Given the description of an element on the screen output the (x, y) to click on. 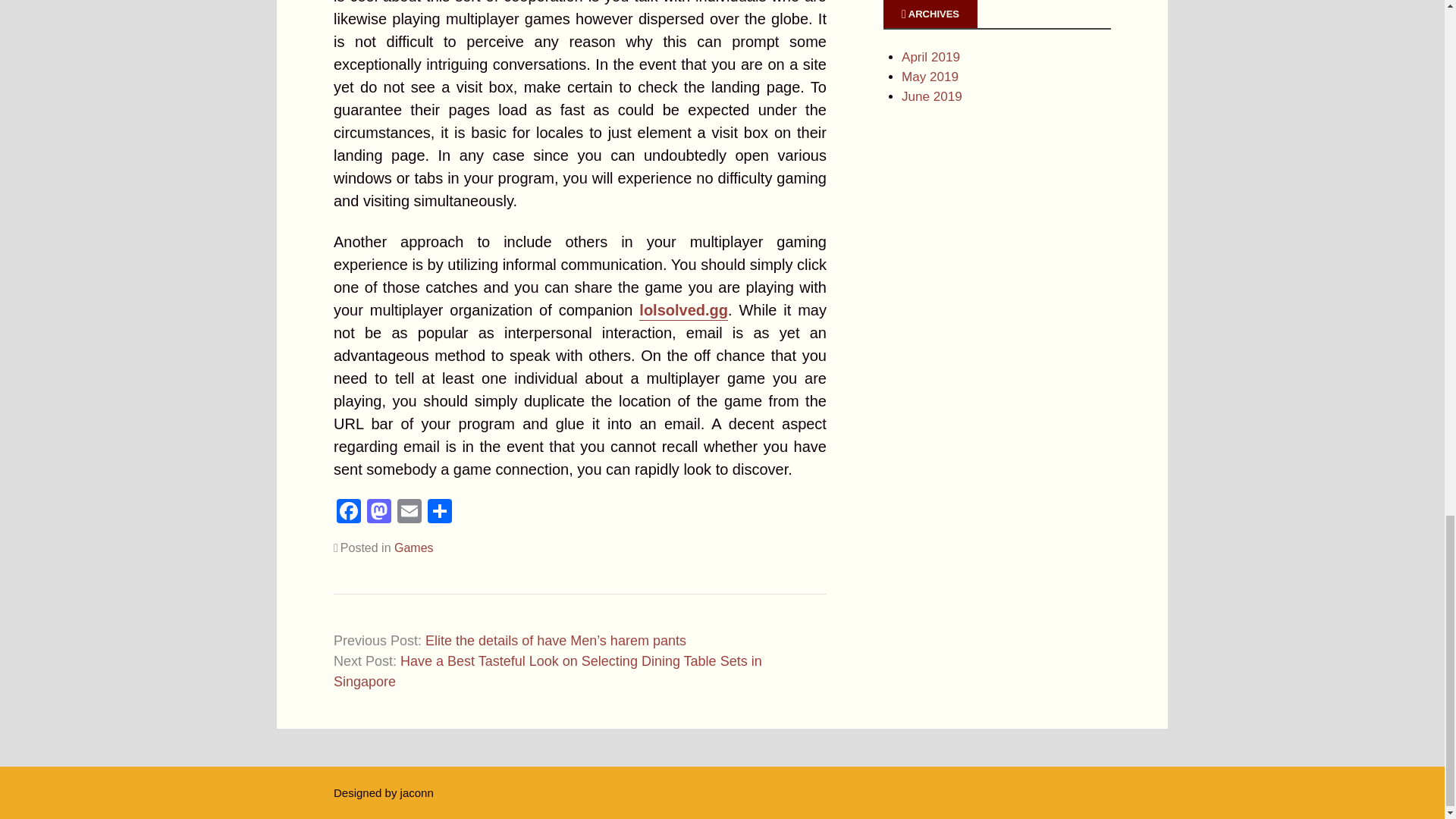
Mastodon (379, 512)
Mastodon (379, 512)
Email (409, 512)
Facebook (348, 512)
Facebook (348, 512)
Share (439, 512)
Email (409, 512)
Games (413, 547)
lolsolved.gg (683, 311)
